Given the description of an element on the screen output the (x, y) to click on. 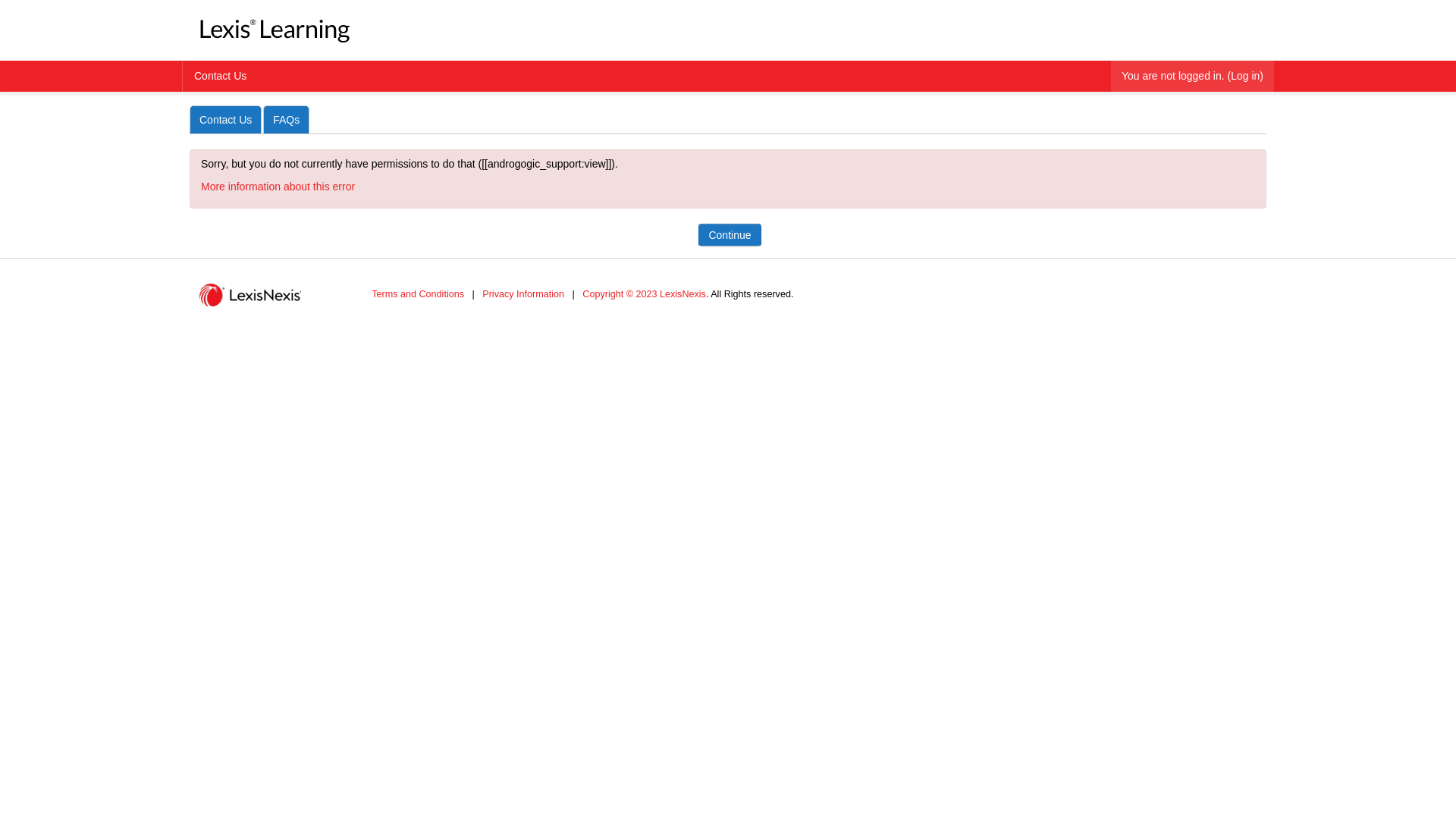
Privacy Information Element type: text (523, 294)
Continue Element type: text (729, 234)
Terms and Conditions Element type: text (417, 294)
FAQs Element type: text (286, 119)
Contact Us Element type: text (219, 75)
Log in Element type: text (1244, 75)
Contact Us Element type: text (225, 119)
More information about this error Element type: text (277, 186)
